Given the description of an element on the screen output the (x, y) to click on. 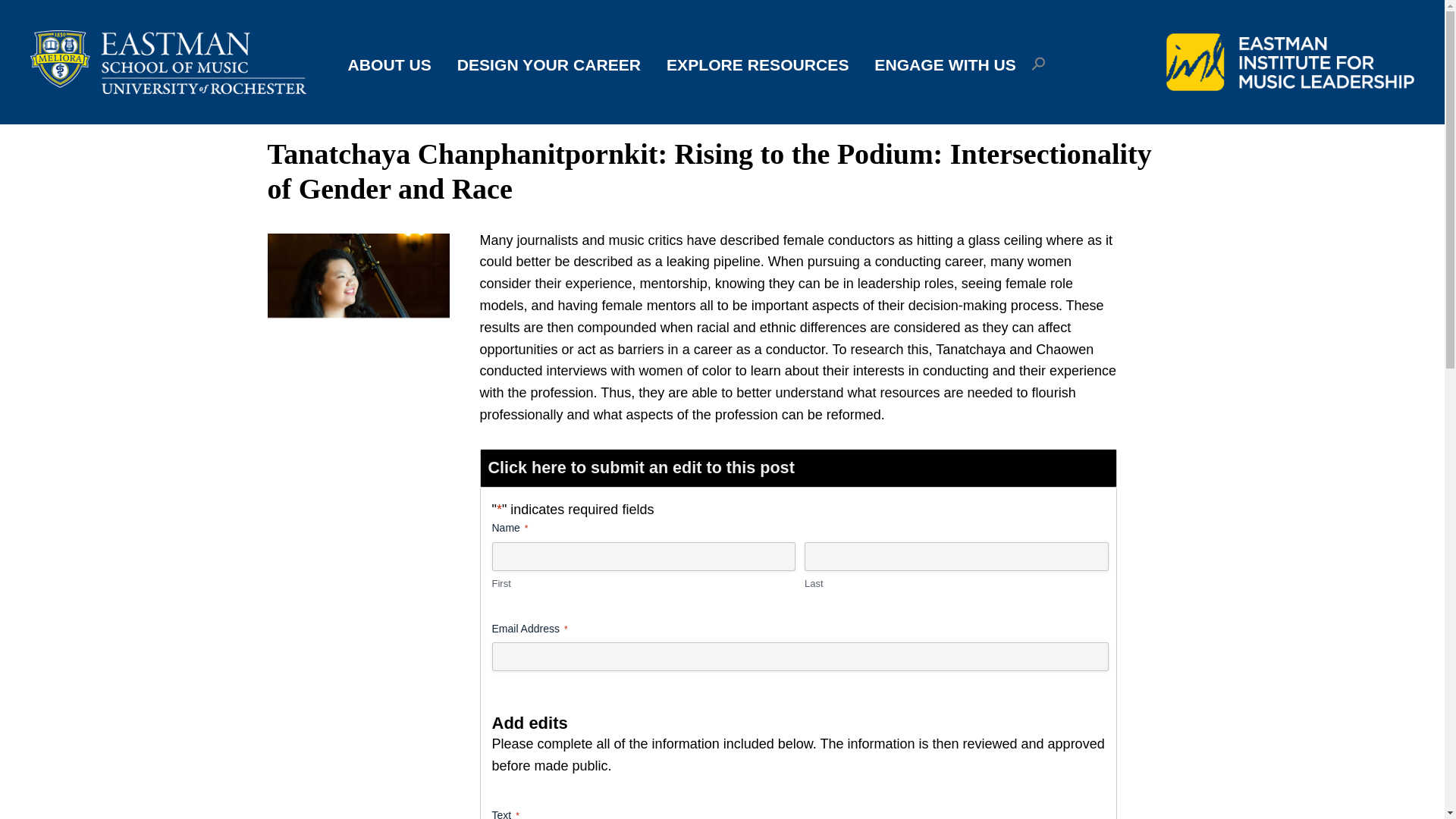
DESIGN YOUR CAREER (548, 63)
EXPLORE RESOURCES (757, 63)
ABOUT US (389, 63)
